Given the description of an element on the screen output the (x, y) to click on. 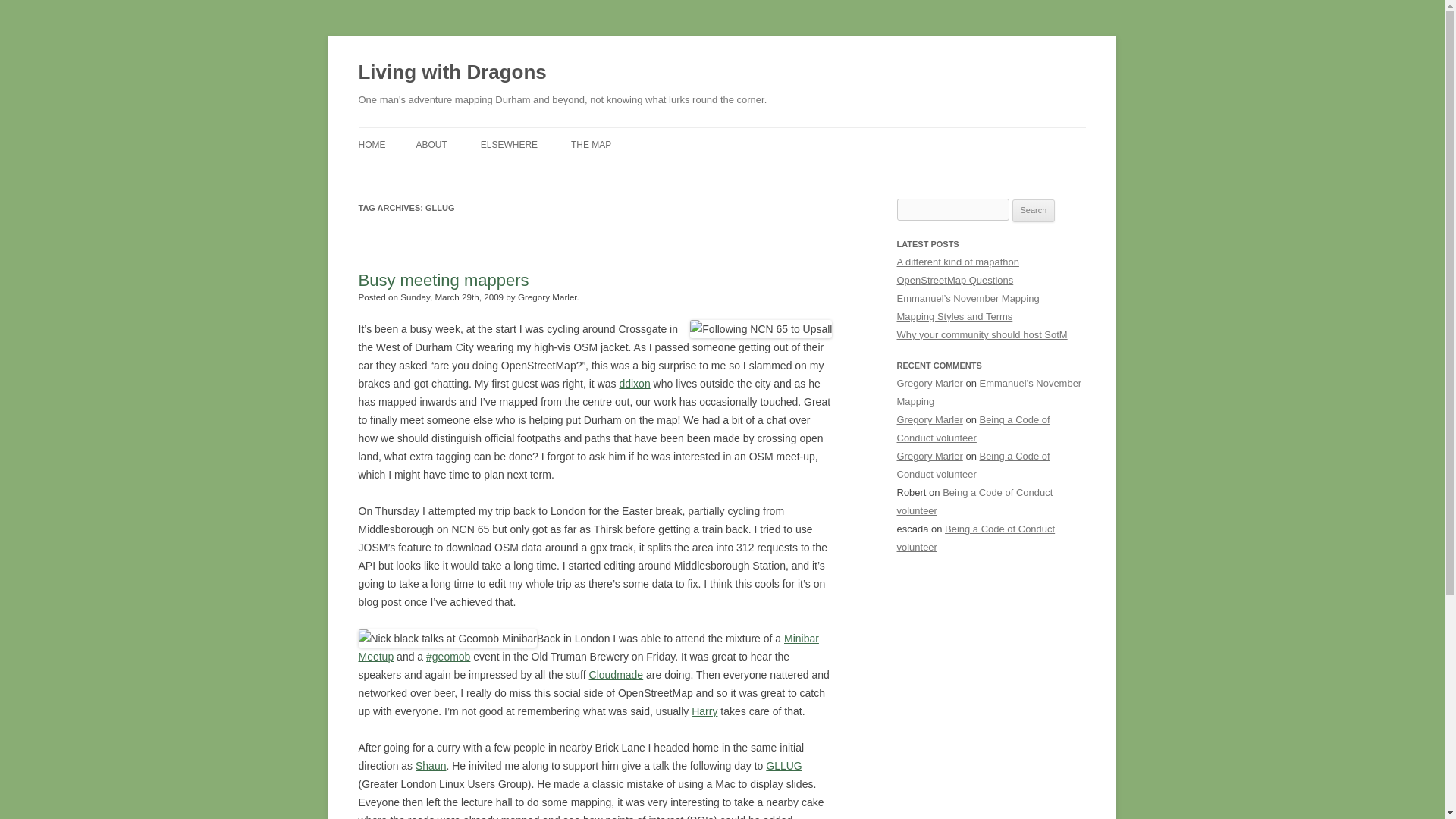
Living with Dragons (452, 72)
OpenStreetMap Questions (954, 279)
Gregory Marler (929, 383)
Mapping Styles and Terms (953, 316)
ddixon (633, 383)
Shaun (429, 766)
ELSEWHERE (508, 144)
Search (1033, 210)
Harry (704, 711)
Permalink to Busy meeting mappers (443, 280)
Minibar Meetup (588, 647)
Why your community should host SotM (981, 334)
Skip to content (757, 132)
Cloudmade (616, 674)
ABOUT (430, 144)
